Given the description of an element on the screen output the (x, y) to click on. 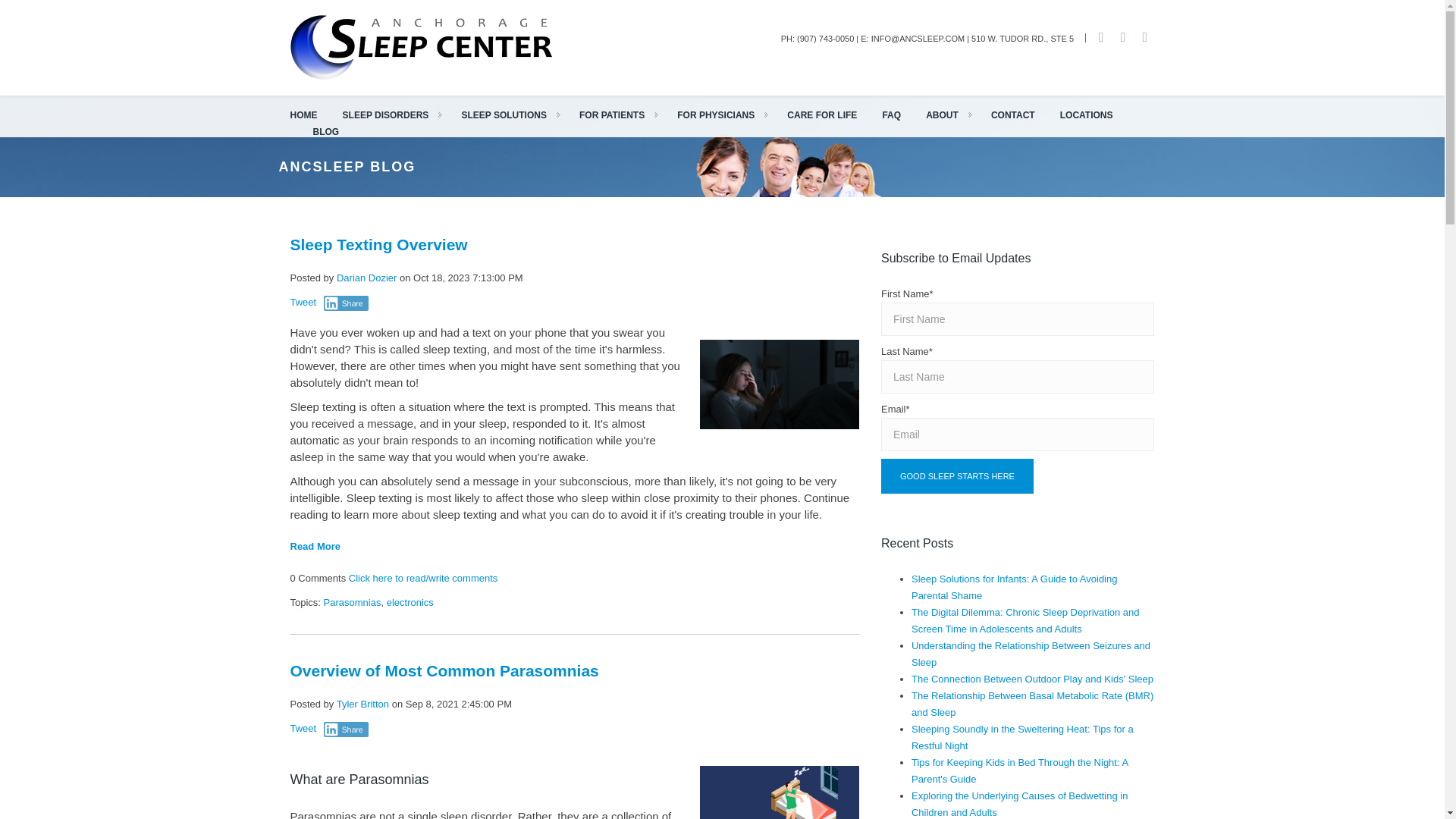
Sleep Texting Overview (378, 244)
Darian Dozier (366, 277)
Tweet (302, 301)
BLOG (326, 131)
ABOUT (950, 115)
FOR PHYSICIANS (723, 115)
LOCATIONS (1086, 115)
FAQ (891, 115)
Share (345, 303)
SLEEP DISORDERS (393, 115)
CONTACT (1013, 115)
Read More (314, 546)
Parasomnias (352, 602)
HOME (303, 115)
SLEEP SOLUTIONS (511, 115)
